Given the description of an element on the screen output the (x, y) to click on. 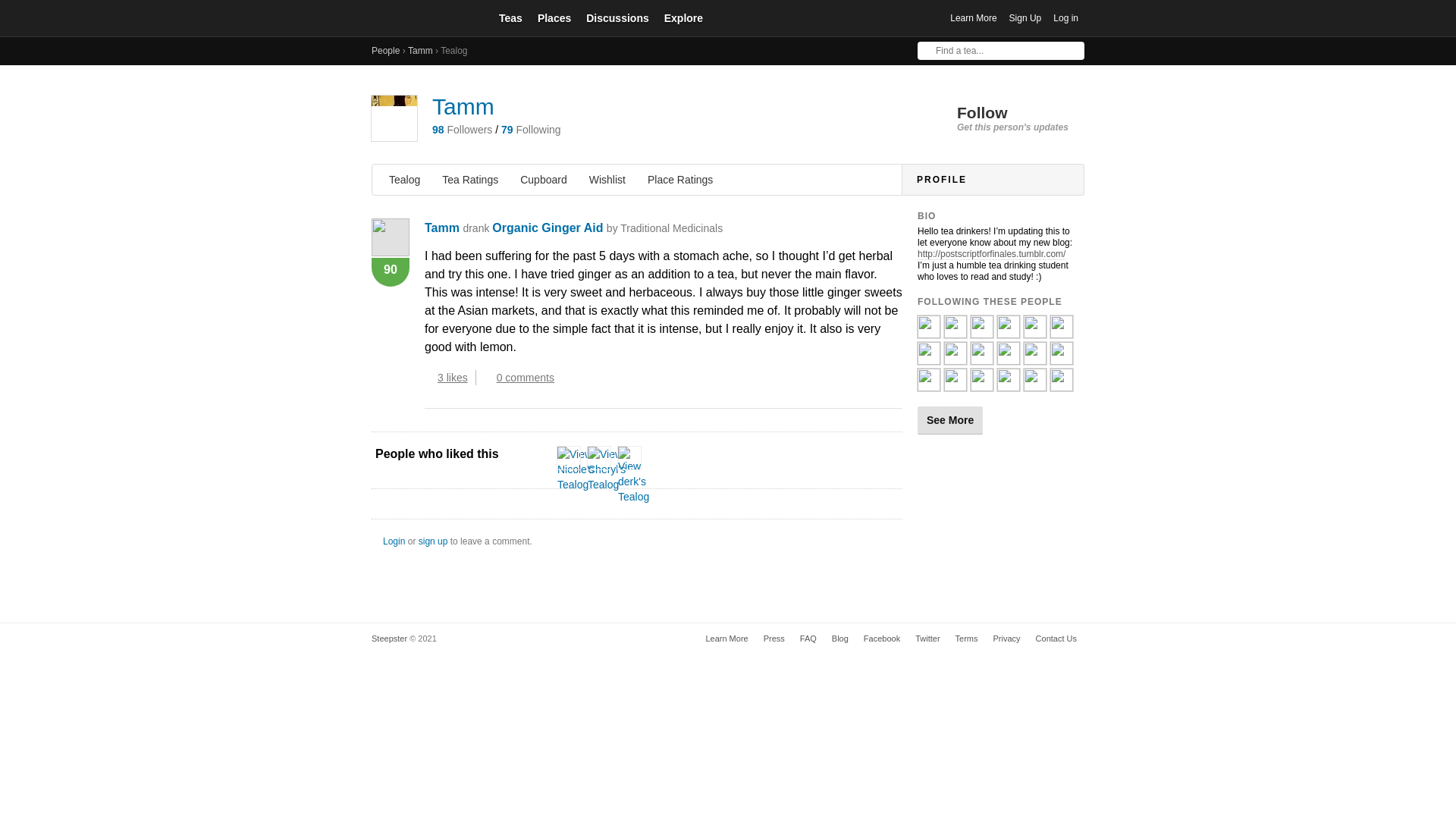
View ssajami's Tealog (928, 357)
0 comments (522, 377)
View Nicole's Tealog (575, 469)
Log in (1065, 18)
View Cheryl's Tealog (607, 469)
Places (553, 17)
View KeenTeaThyme's Tealog (928, 385)
View LiberTEAS's Tealog (981, 357)
Steepster (424, 18)
View Itsyknits's Tealog (1061, 357)
Teas (510, 17)
View SpecialTea Brew's Tealog (954, 385)
View Jenn's Tealog (1061, 331)
Explore (683, 17)
View TeaEqualsBliss's Tealog (981, 331)
